Given the description of an element on the screen output the (x, y) to click on. 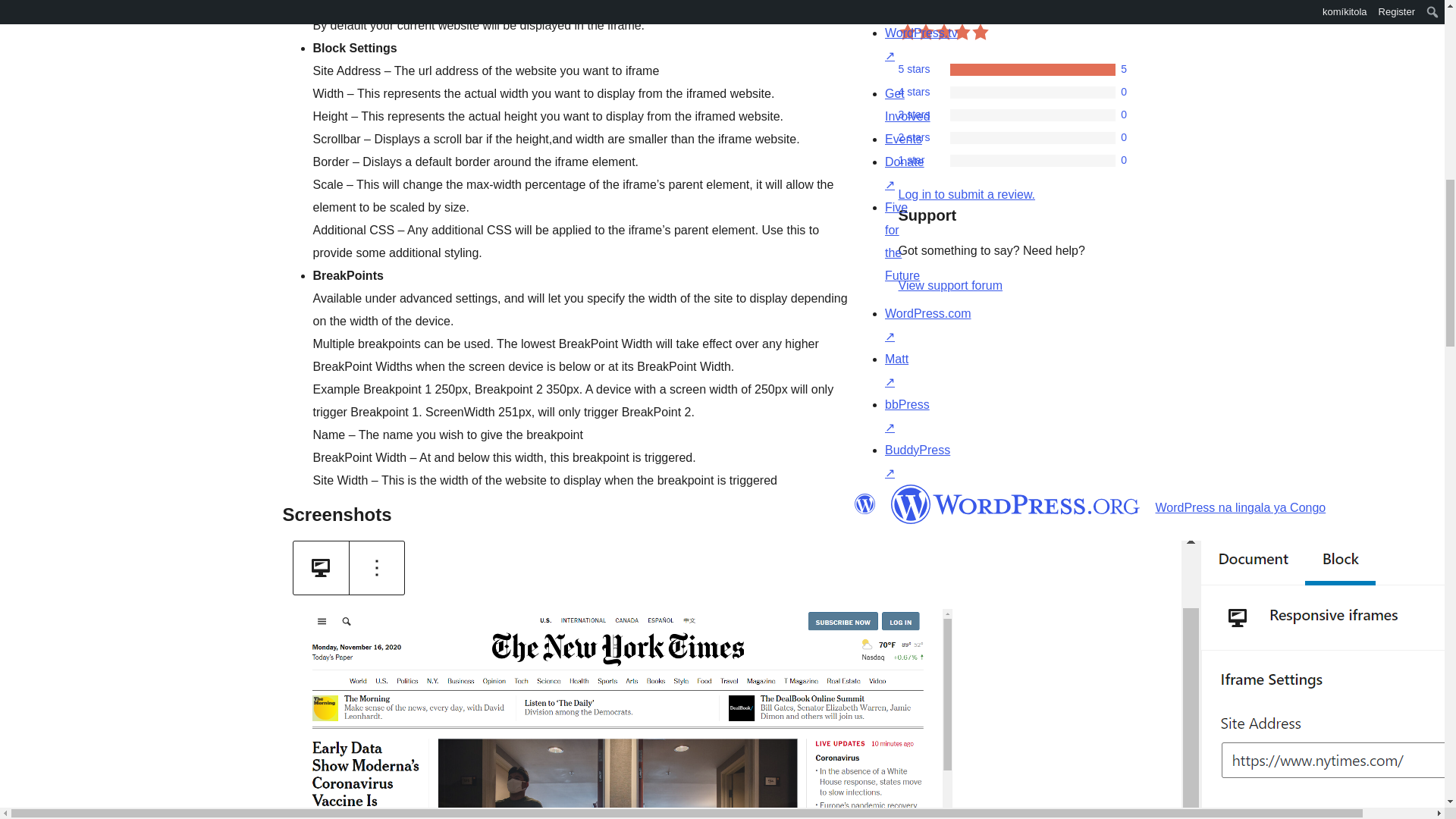
Log in to WordPress.org (966, 194)
WordPress.org (1014, 504)
WordPress.org (864, 504)
